Given the description of an element on the screen output the (x, y) to click on. 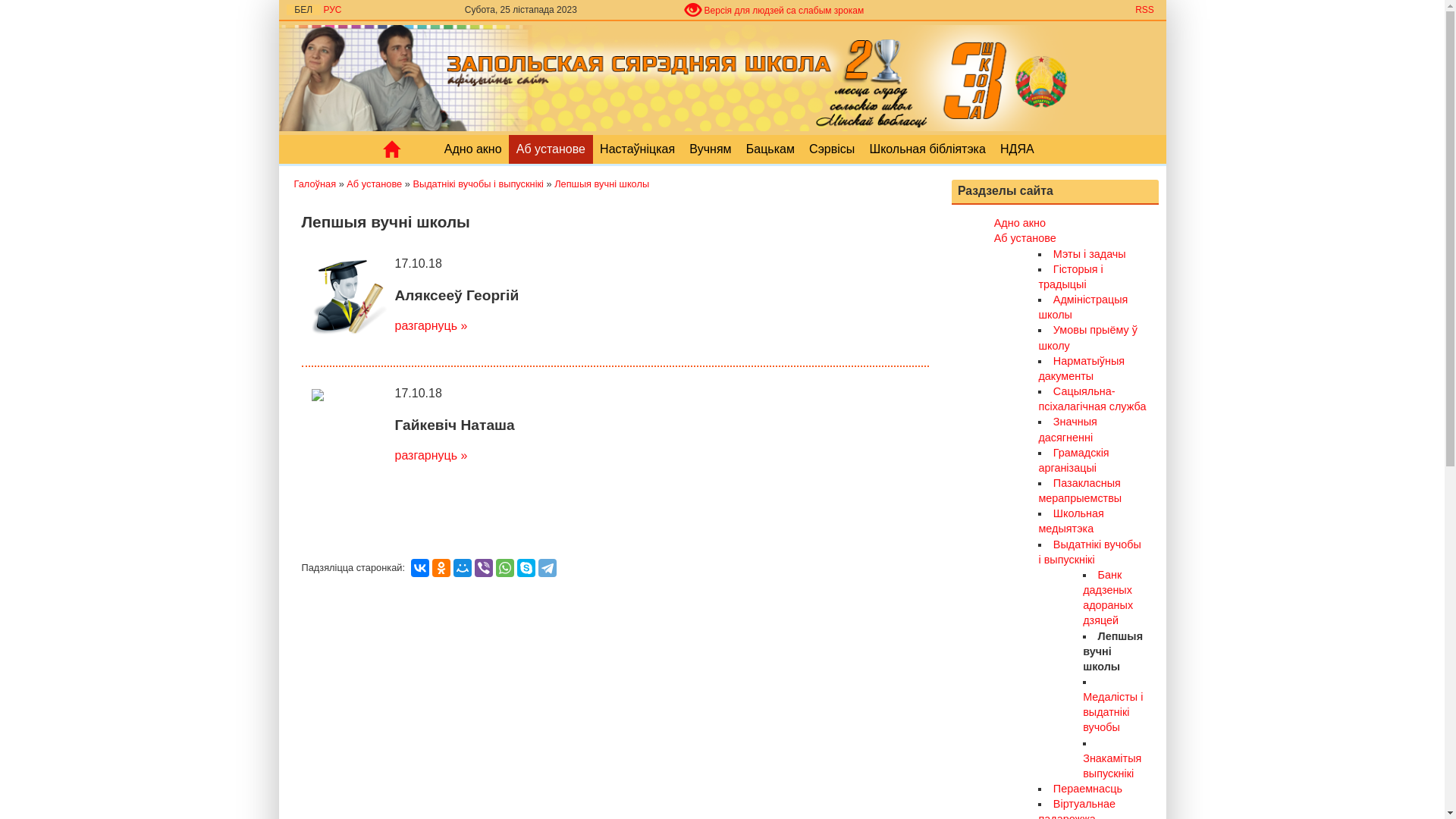
WhatsApp Element type: hover (504, 567)
RSS Element type: text (1143, 9)
Skype Element type: hover (526, 567)
Viber Element type: hover (483, 567)
Telegram Element type: hover (547, 567)
